Given the description of an element on the screen output the (x, y) to click on. 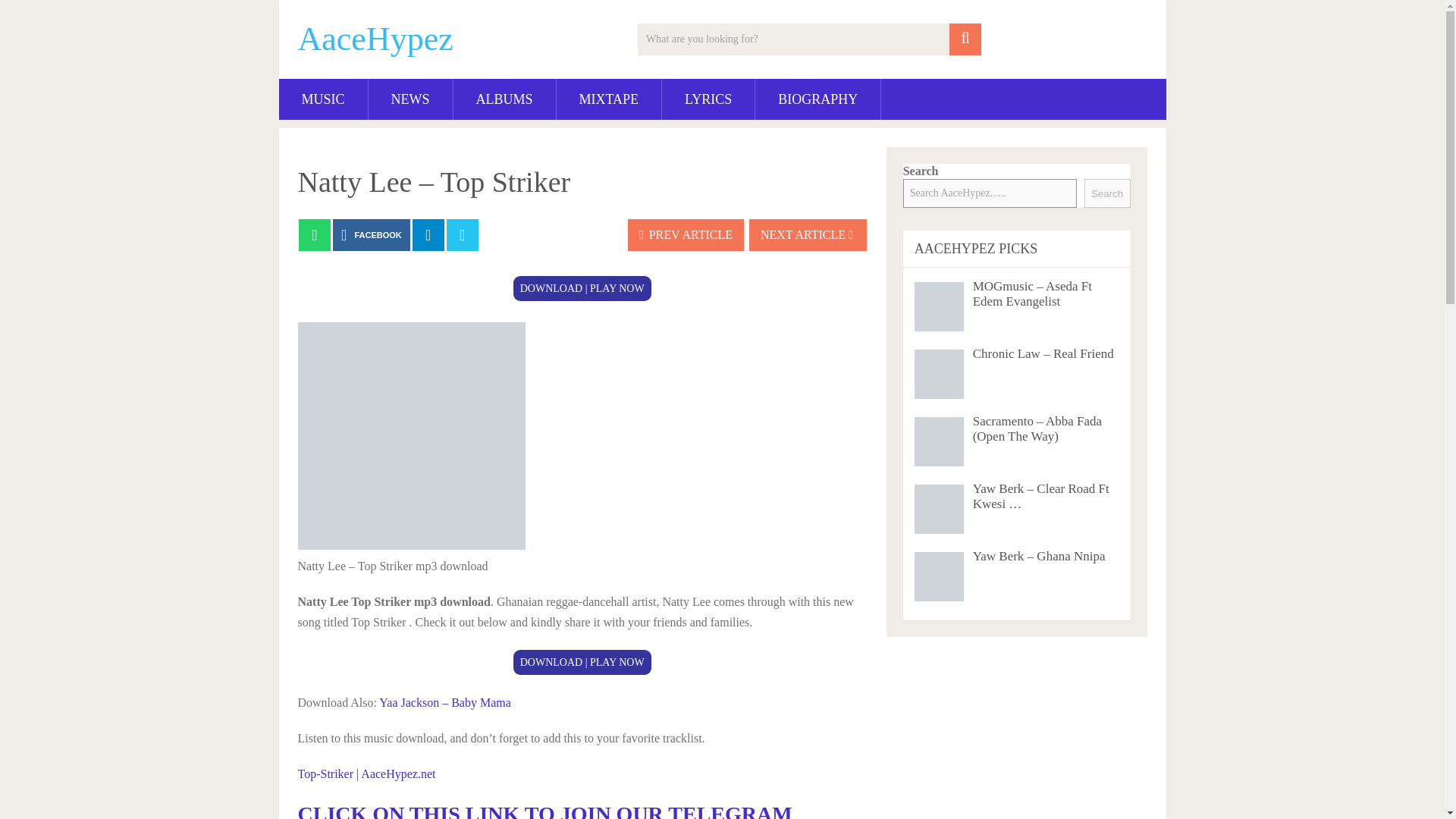
CLICK ON THIS LINK TO JOIN OUR TELEGRAM CHANNEL (544, 810)
BIOGRAPHY (817, 98)
FACEBOOK (371, 234)
AaceHypez (374, 39)
LYRICS (708, 98)
PREV ARTICLE (685, 234)
ALBUMS (504, 98)
MIXTAPE (609, 98)
NEXT ARTICLE (807, 234)
MUSIC (323, 98)
NEWS (410, 98)
